Given the description of an element on the screen output the (x, y) to click on. 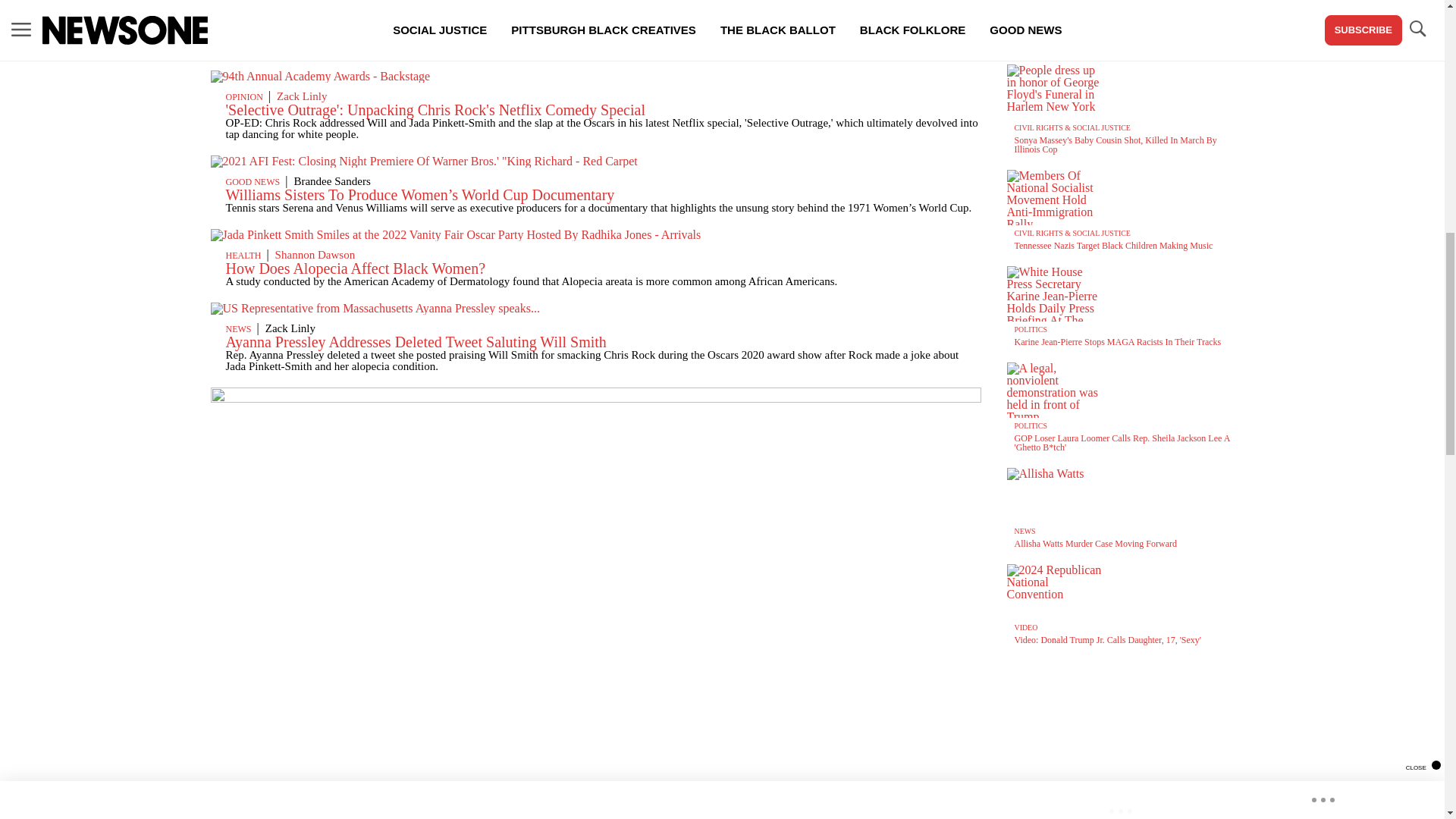
NEWS (238, 328)
HEALTH (243, 255)
GOOD NEWS (253, 181)
How Does Alopecia Affect Black Women? (355, 268)
Shannon Dawson (315, 254)
OPINION (244, 96)
Zack Linly (301, 96)
Ayanna Pressley Addresses Deleted Tweet Saluting Will Smith (416, 341)
ENTERTAINMENT (263, 23)
